Given the description of an element on the screen output the (x, y) to click on. 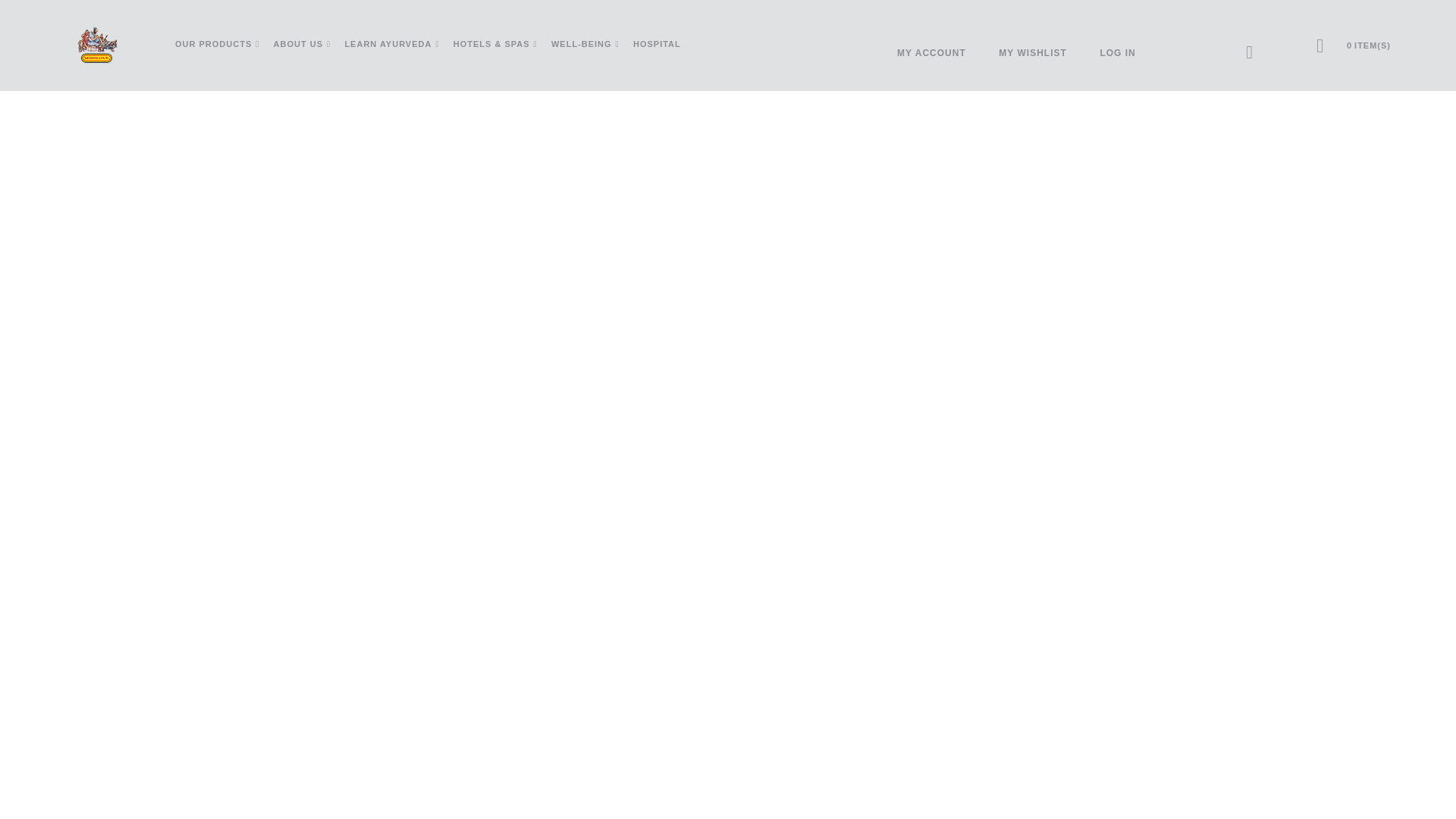
Log In (1117, 52)
My Account (931, 52)
My Wishlist (1032, 52)
OUR PRODUCTS (216, 44)
Siddhalepa (96, 45)
